Given the description of an element on the screen output the (x, y) to click on. 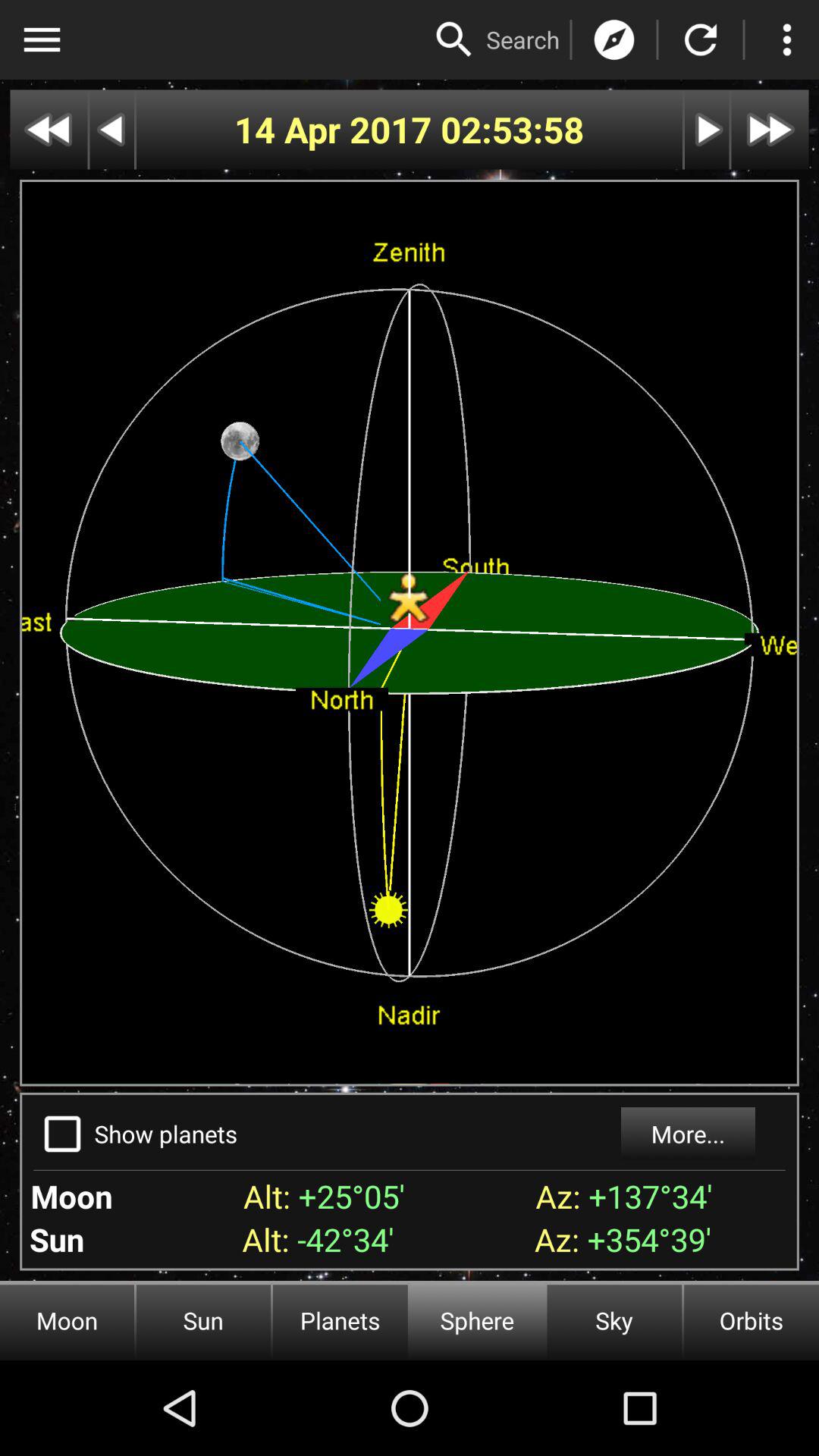
tap icon to the left of more... item (165, 1133)
